Given the description of an element on the screen output the (x, y) to click on. 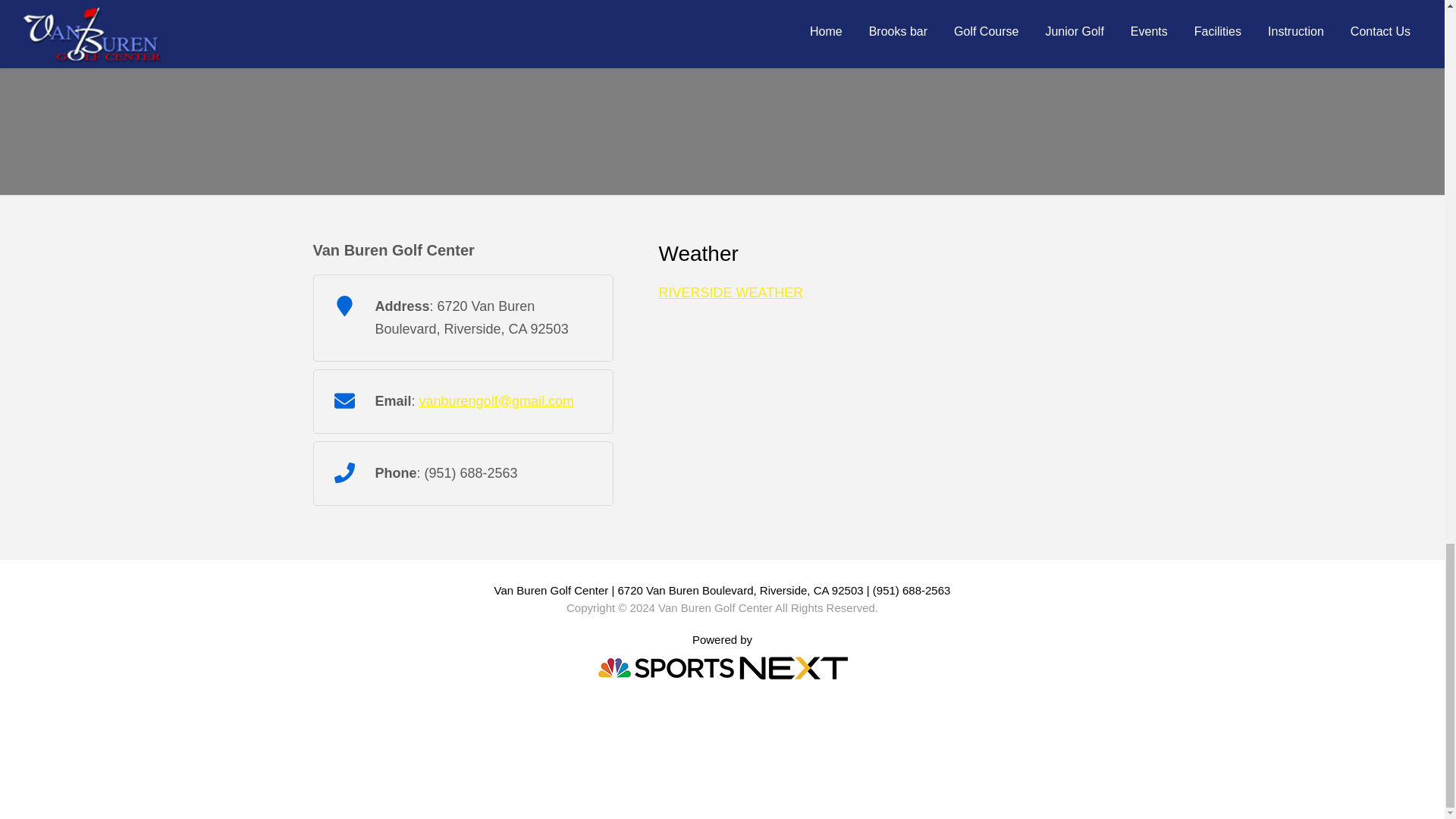
RIVERSIDE WEATHER (730, 292)
